Given the description of an element on the screen output the (x, y) to click on. 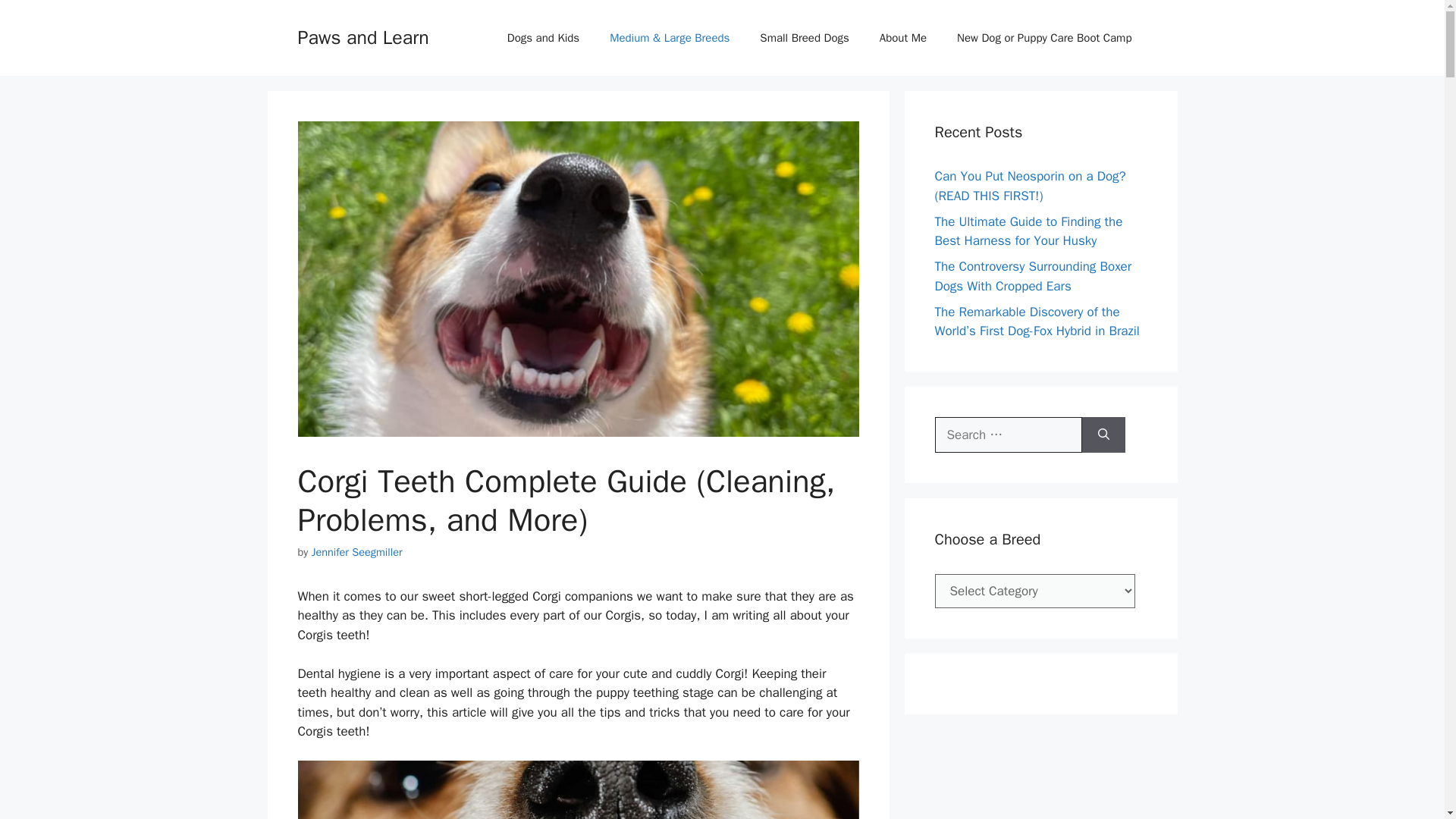
Search for: (1007, 434)
Jennifer Seegmiller (357, 551)
View all posts by Jennifer Seegmiller (357, 551)
Dogs and Kids (543, 37)
About Me (903, 37)
New Dog or Puppy Care Boot Camp (1044, 37)
Paws and Learn (362, 37)
Small Breed Dogs (803, 37)
